Given the description of an element on the screen output the (x, y) to click on. 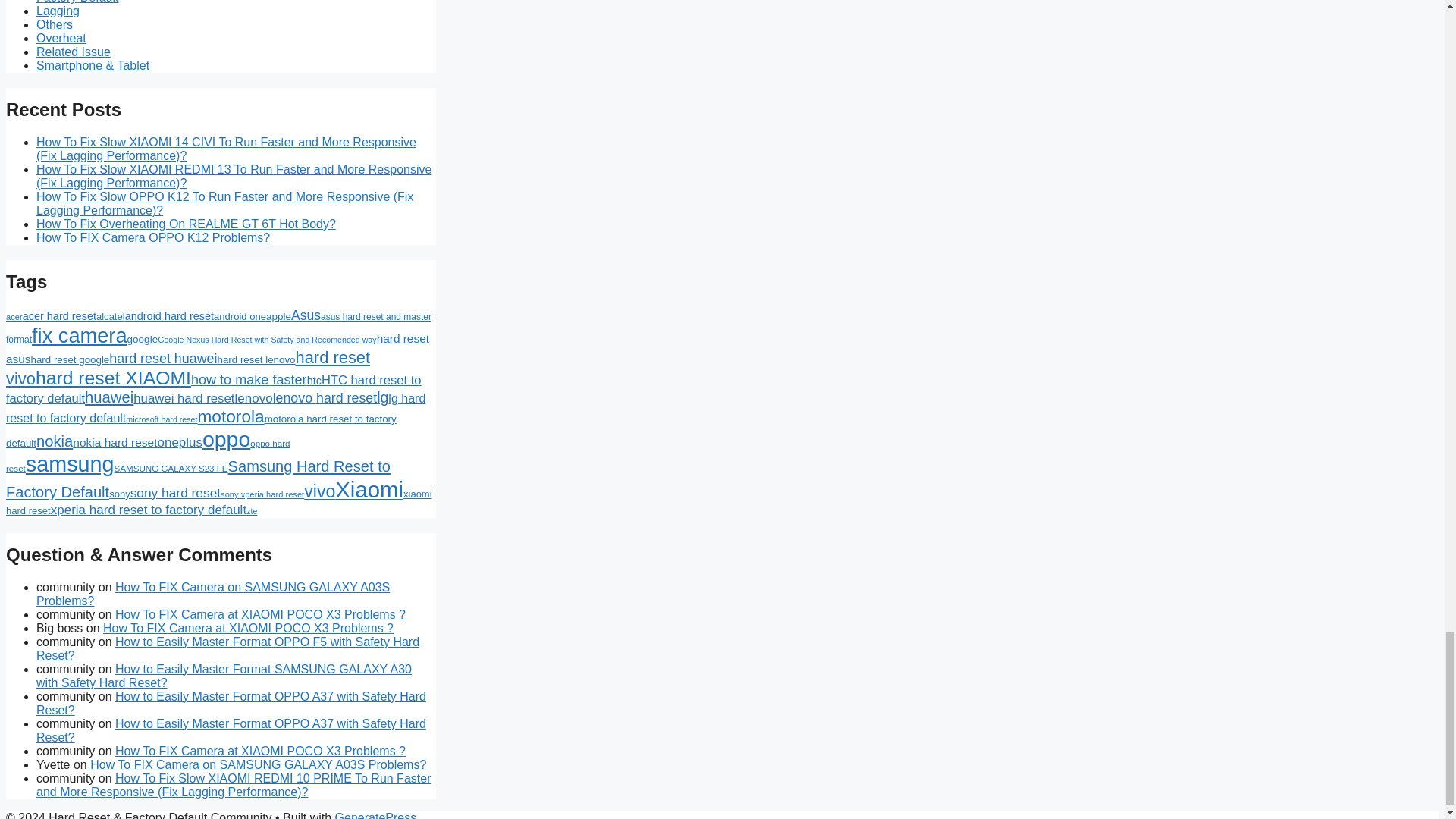
Lagging (58, 10)
Factory Default (76, 2)
